Given the description of an element on the screen output the (x, y) to click on. 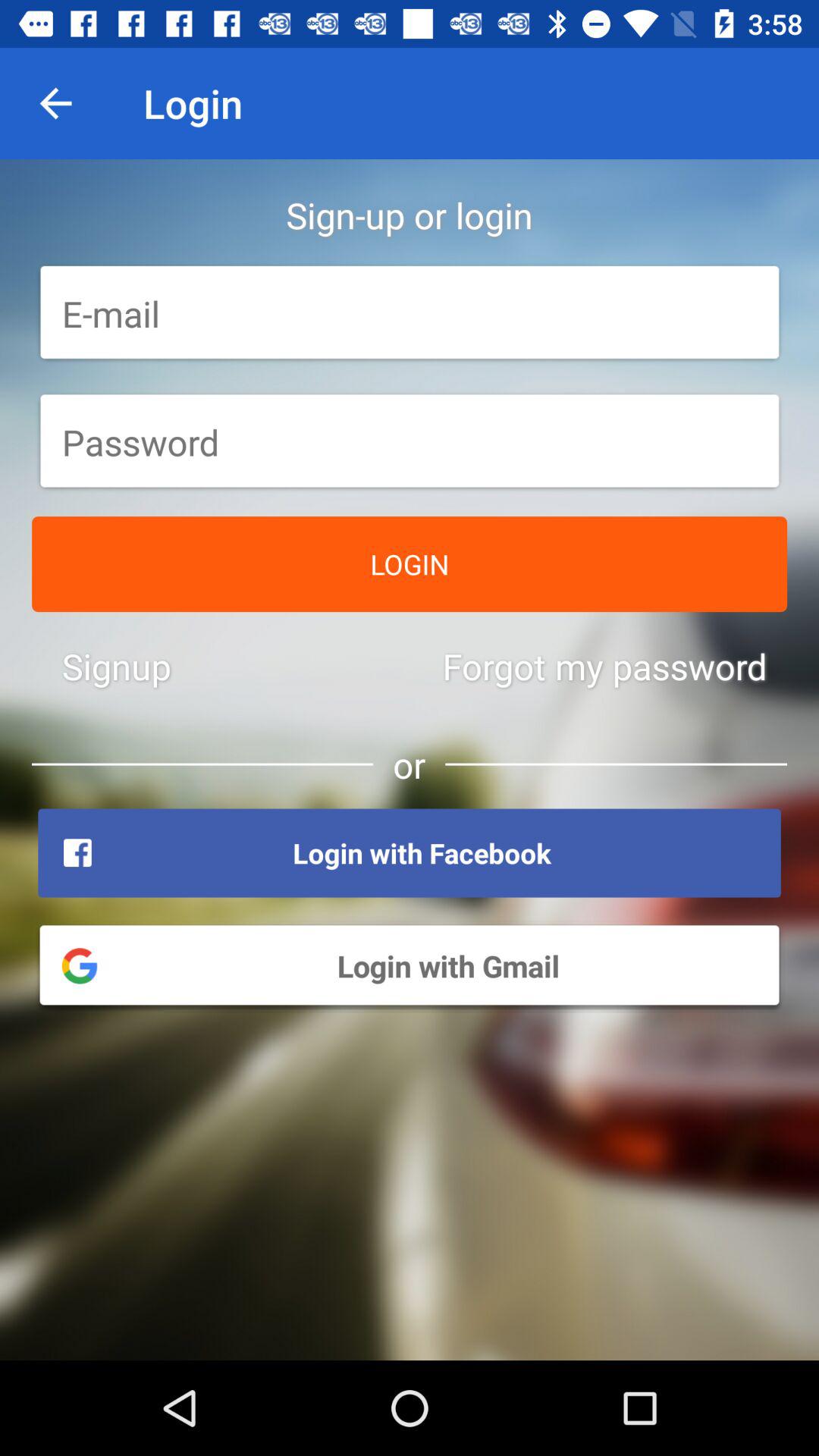
enter password (409, 442)
